Given the description of an element on the screen output the (x, y) to click on. 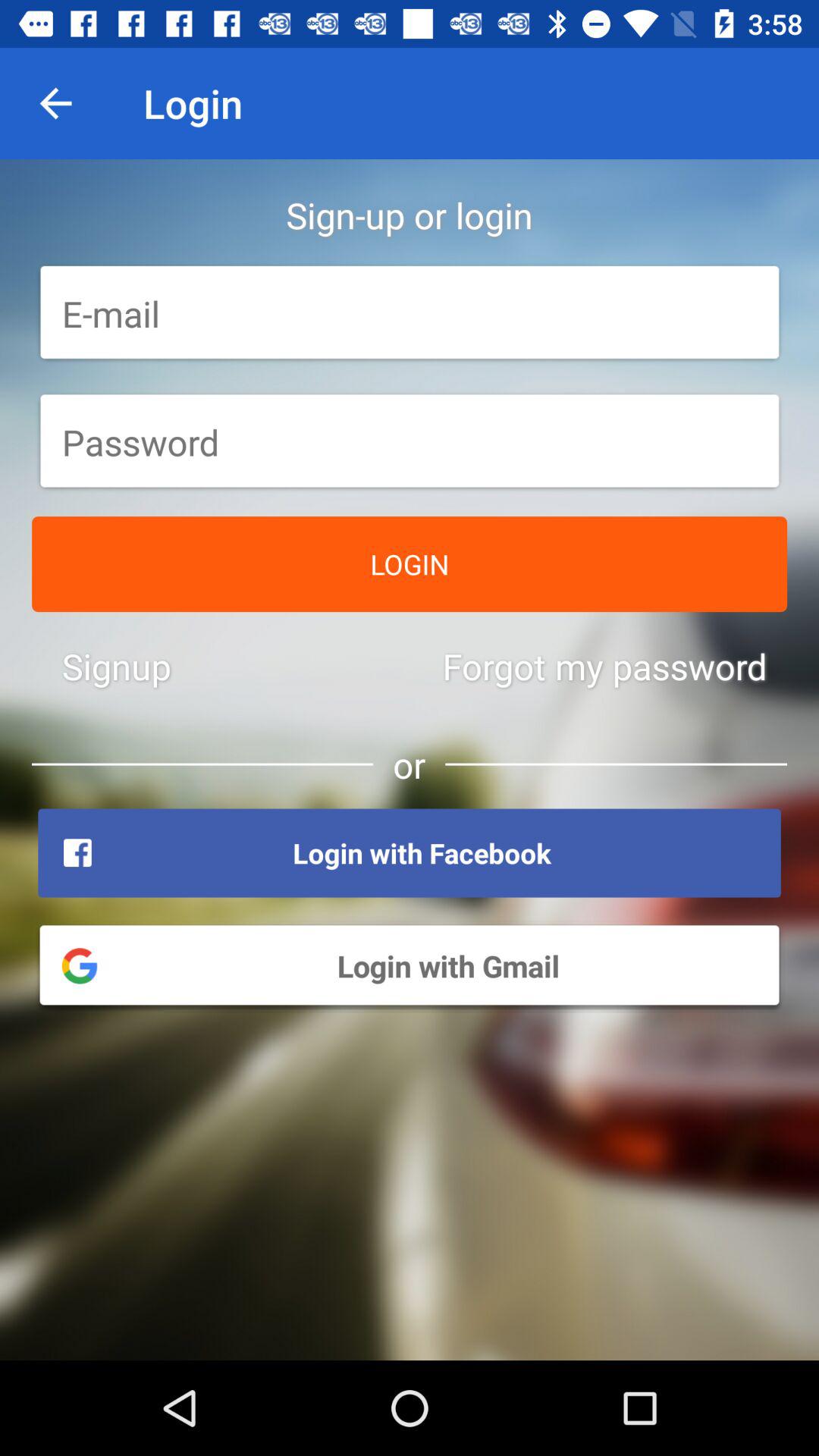
enter password (409, 442)
